Given the description of an element on the screen output the (x, y) to click on. 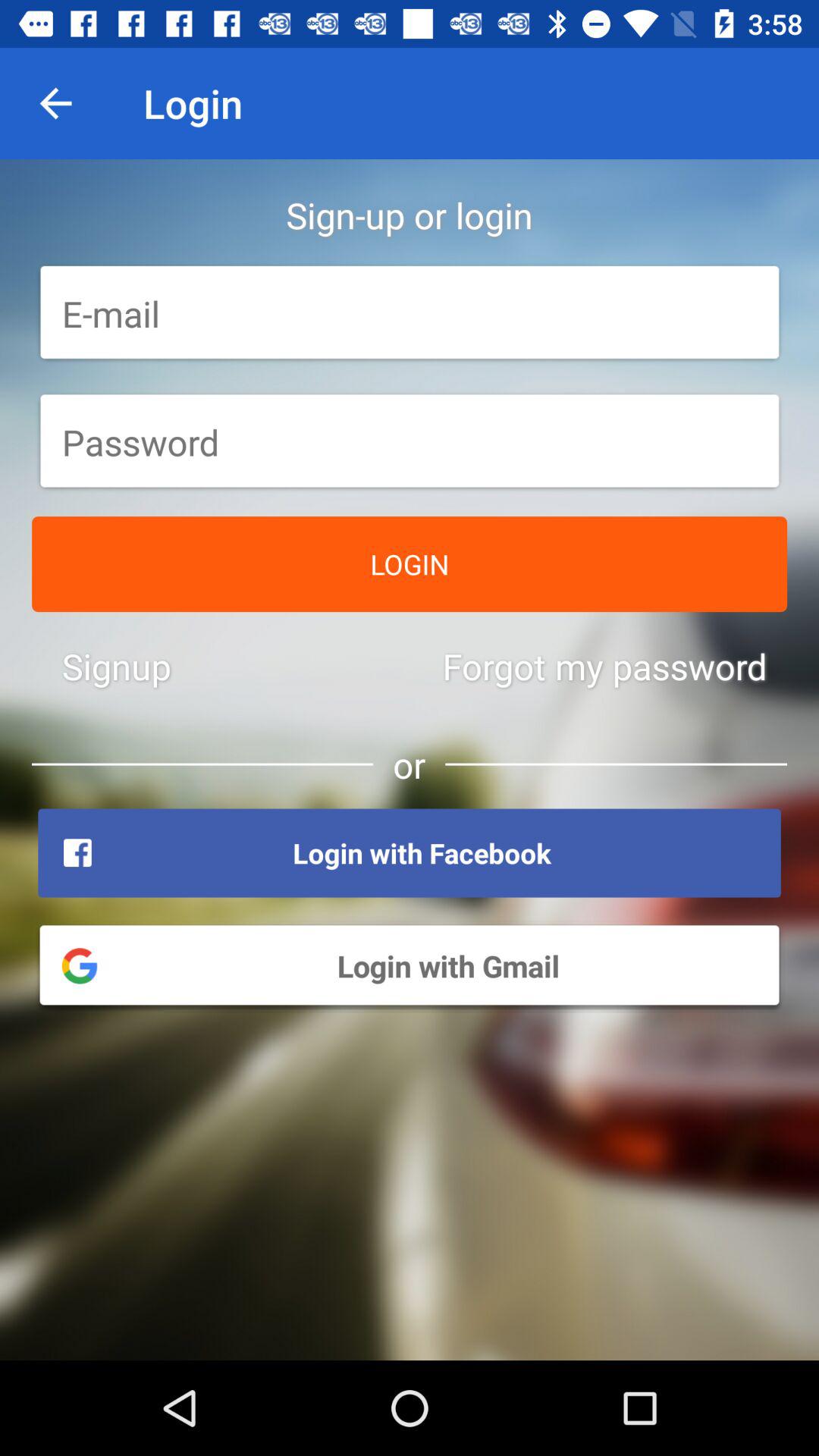
enter password (409, 442)
